Given the description of an element on the screen output the (x, y) to click on. 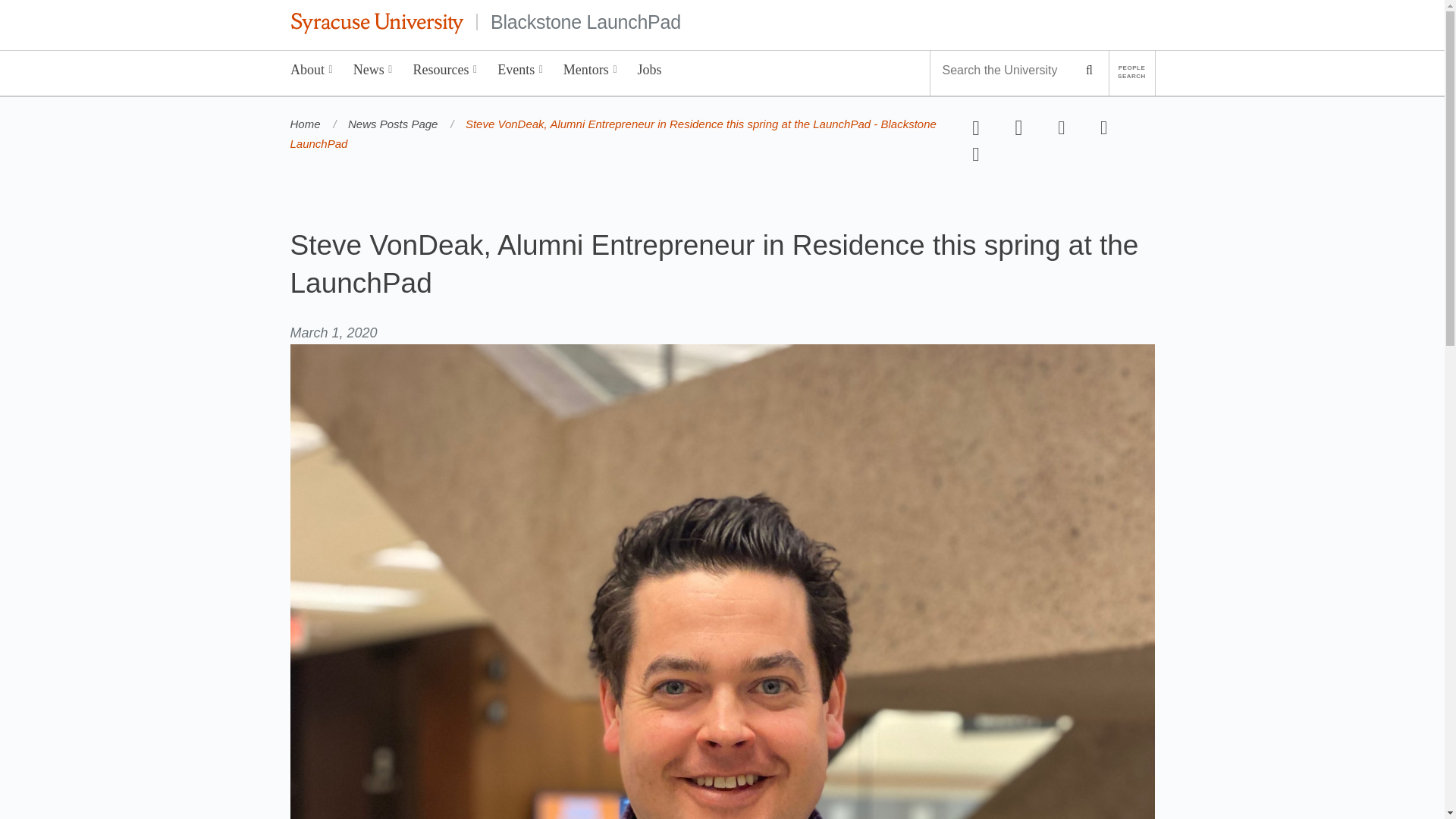
About (312, 72)
Instagram URL (1102, 128)
Resources (445, 72)
YouTube URL (1061, 127)
LinkedIn URL (975, 155)
Events (520, 72)
News (372, 72)
Blackstone LaunchPad (585, 20)
Facebook URL (976, 128)
Twitter URL (1018, 127)
